Given the description of an element on the screen output the (x, y) to click on. 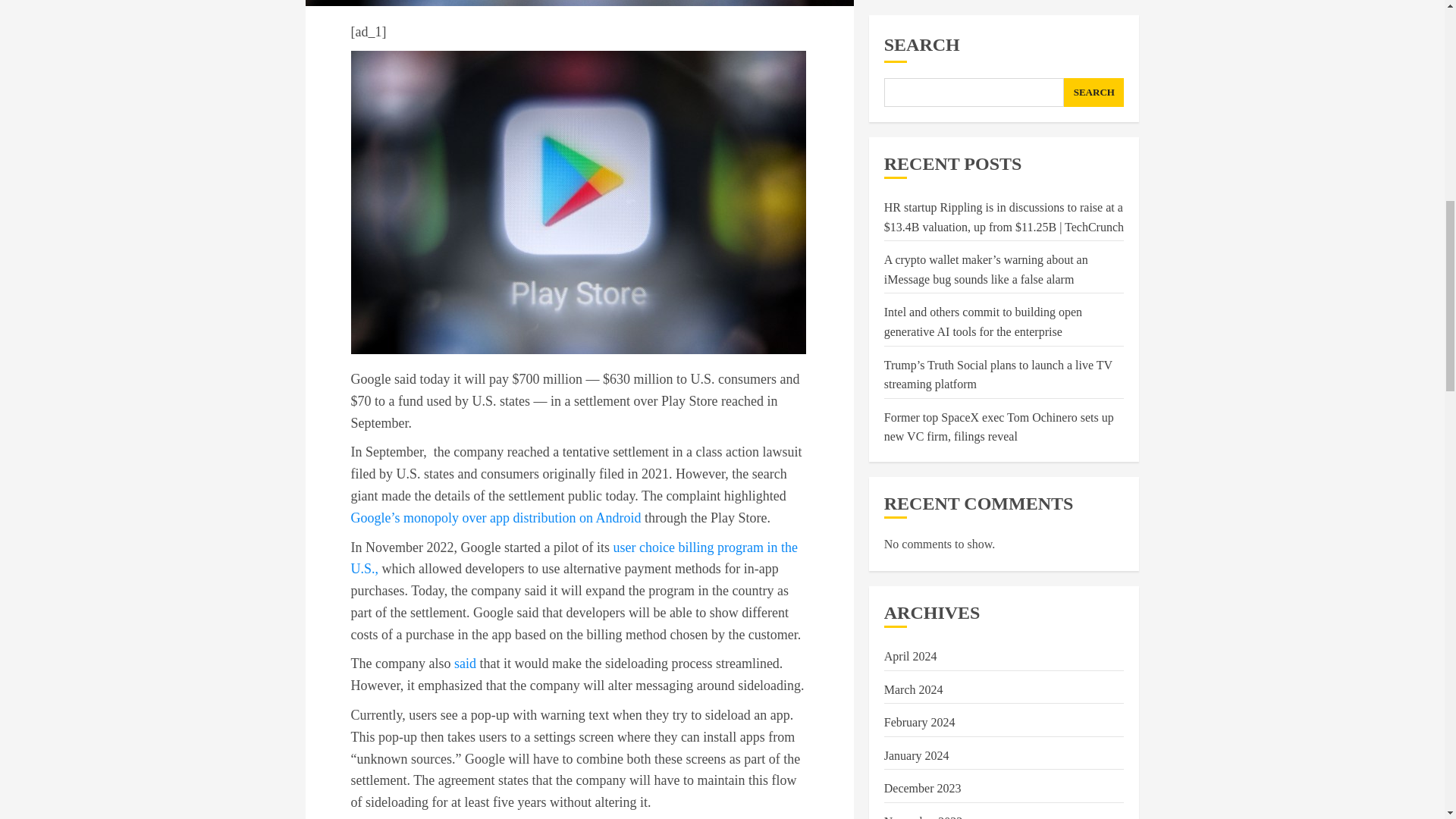
user choice billing program in the U.S., (573, 558)
said (465, 663)
